Given the description of an element on the screen output the (x, y) to click on. 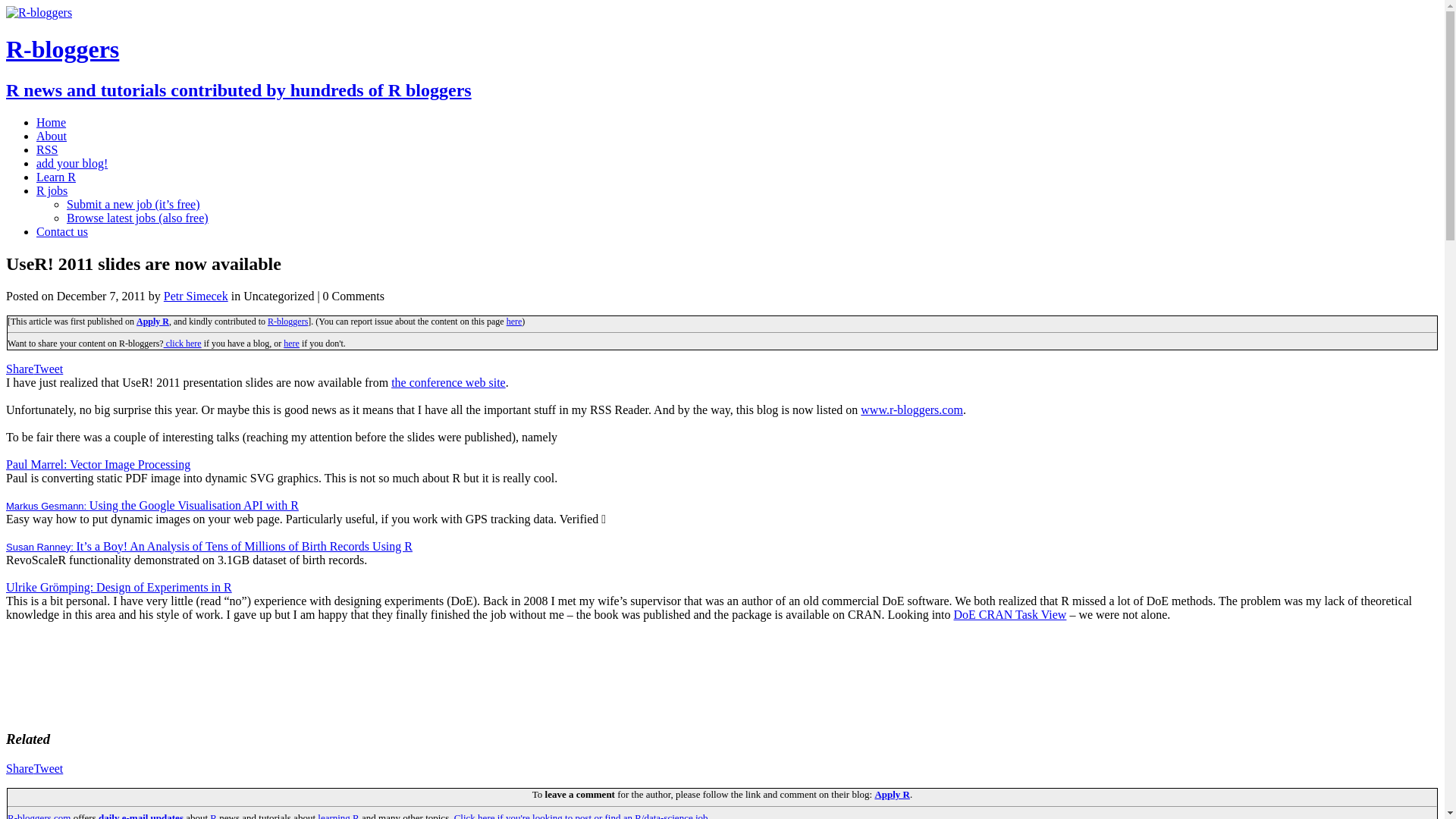
Paul Marrel: Vector Image Processing (97, 463)
Home (50, 122)
Contact us (61, 231)
R tutorials (338, 815)
Markus Gesmann: Using the Google Visualisation API with R (151, 504)
here (291, 343)
Tweet (47, 368)
click here (182, 343)
add your blog! (71, 163)
R (212, 815)
